Given the description of an element on the screen output the (x, y) to click on. 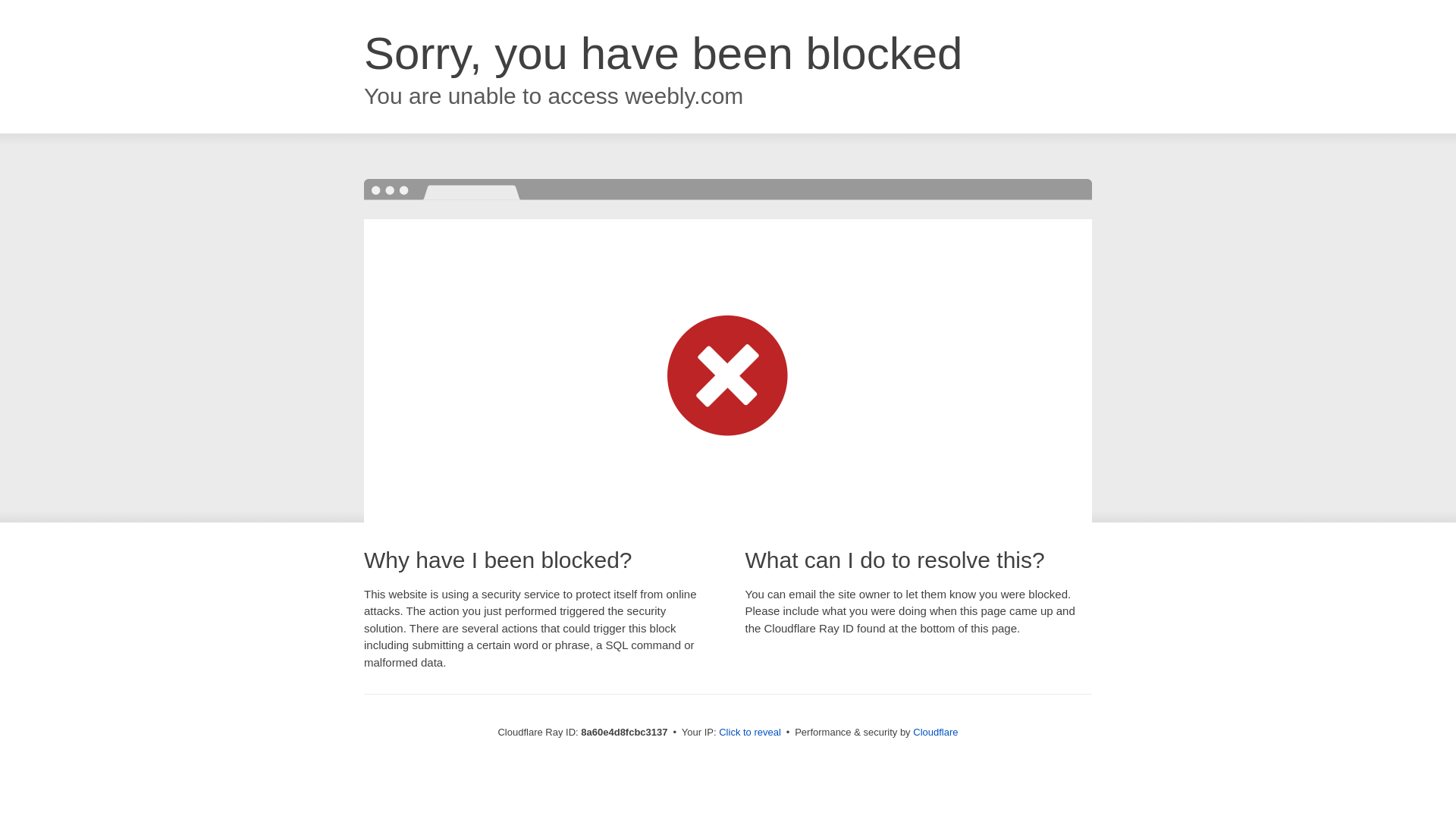
Click to reveal (749, 732)
Cloudflare (935, 731)
